Given the description of an element on the screen output the (x, y) to click on. 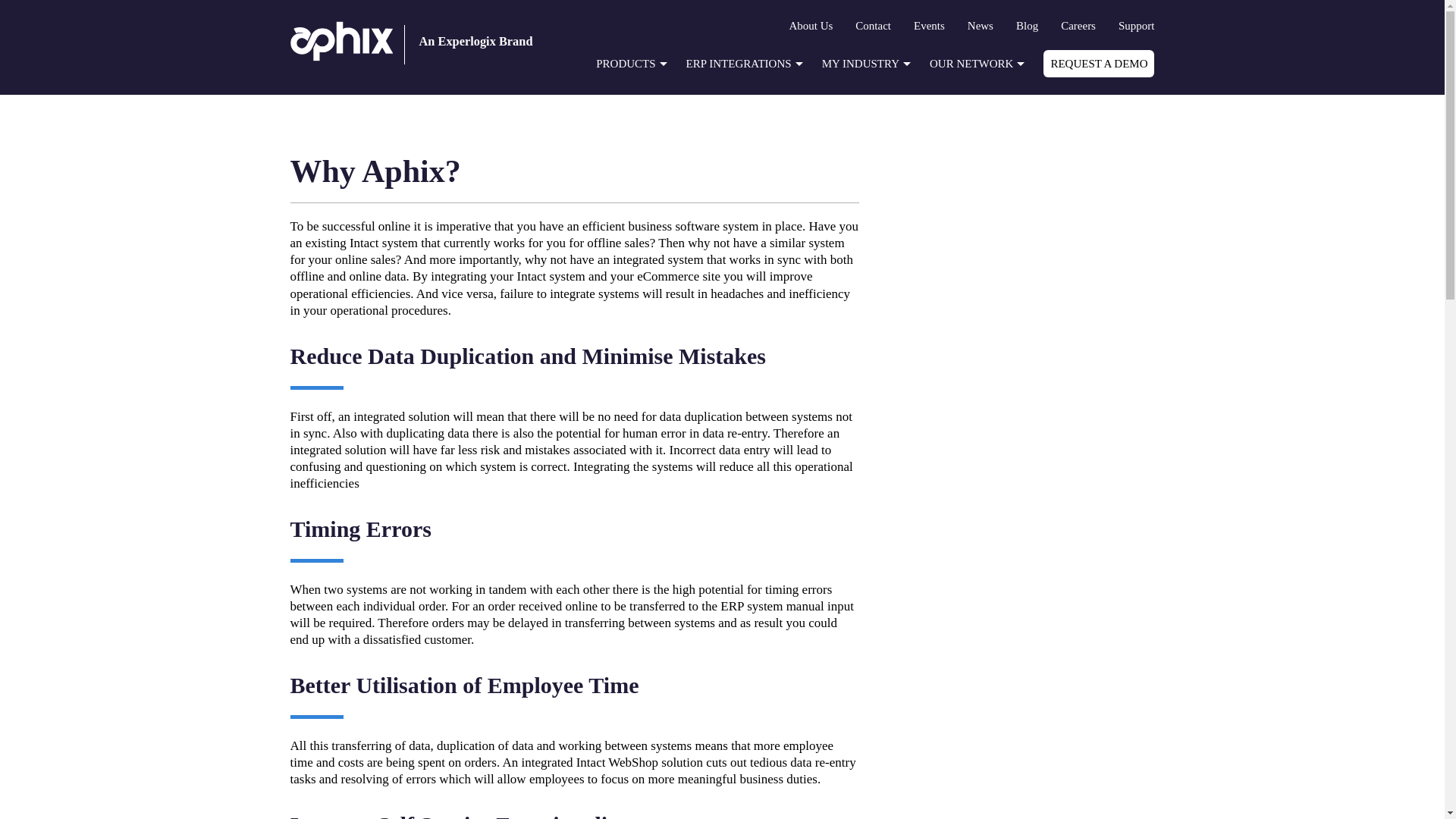
PRODUCTS (628, 62)
ERP INTEGRATIONS (742, 62)
An Experlogix Brand (425, 40)
Contact (873, 25)
Blog (1027, 25)
Careers (1078, 25)
News (980, 25)
Events (929, 25)
Support (1136, 25)
About Us (810, 25)
